Given the description of an element on the screen output the (x, y) to click on. 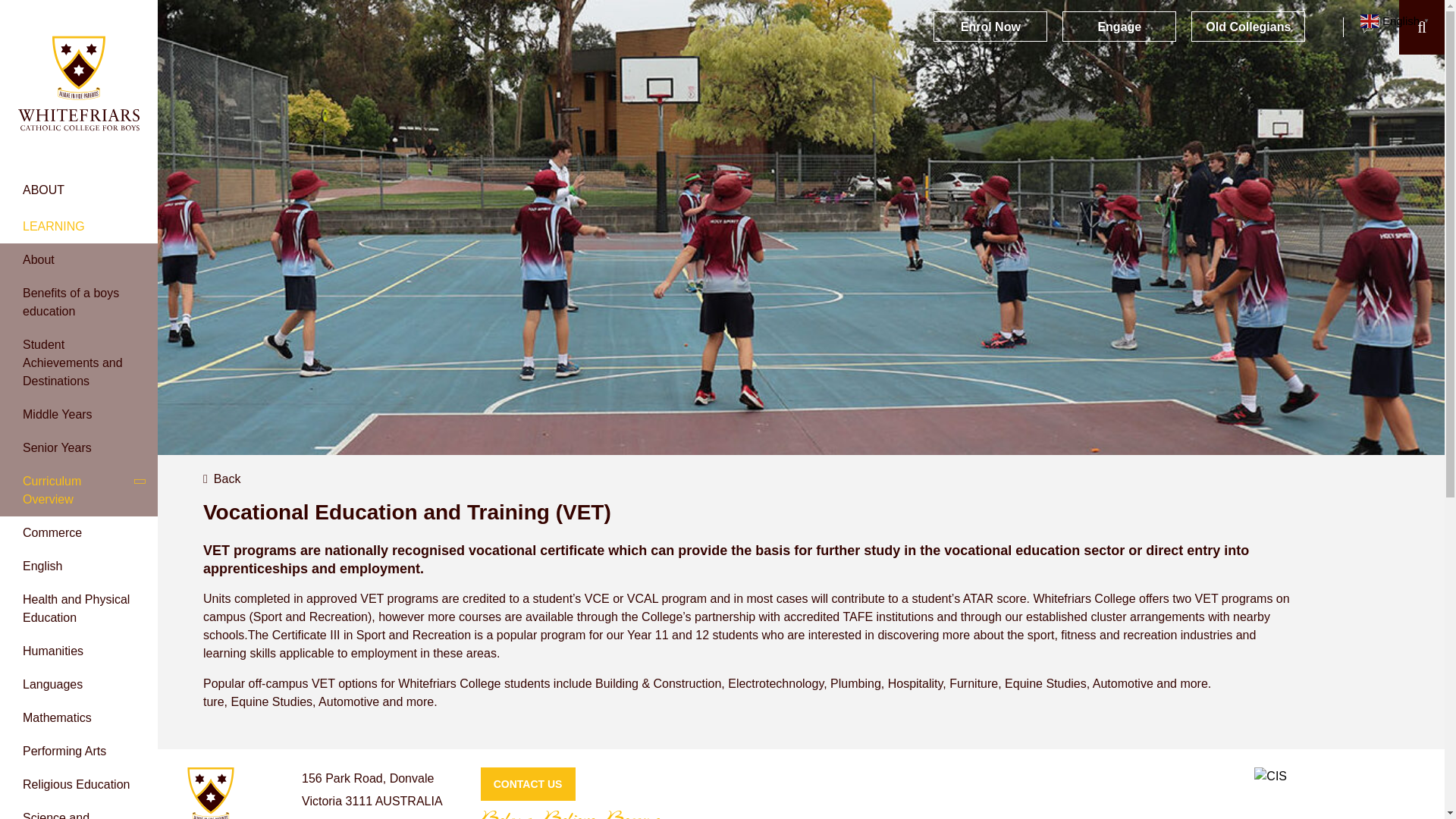
Benefits of a boys education (78, 302)
Commerce (52, 532)
About (78, 259)
ABOUT (78, 189)
Religious Education (76, 784)
LEARNING (78, 226)
Health and Physical Education (76, 608)
Middle Years (78, 414)
Humanities (52, 650)
Mathematics (57, 717)
Senior Years (78, 448)
Curriculum Overview (78, 490)
Science and Technologies (58, 815)
Student Achievements and Destinations (78, 363)
Performing Arts (64, 750)
